Given the description of an element on the screen output the (x, y) to click on. 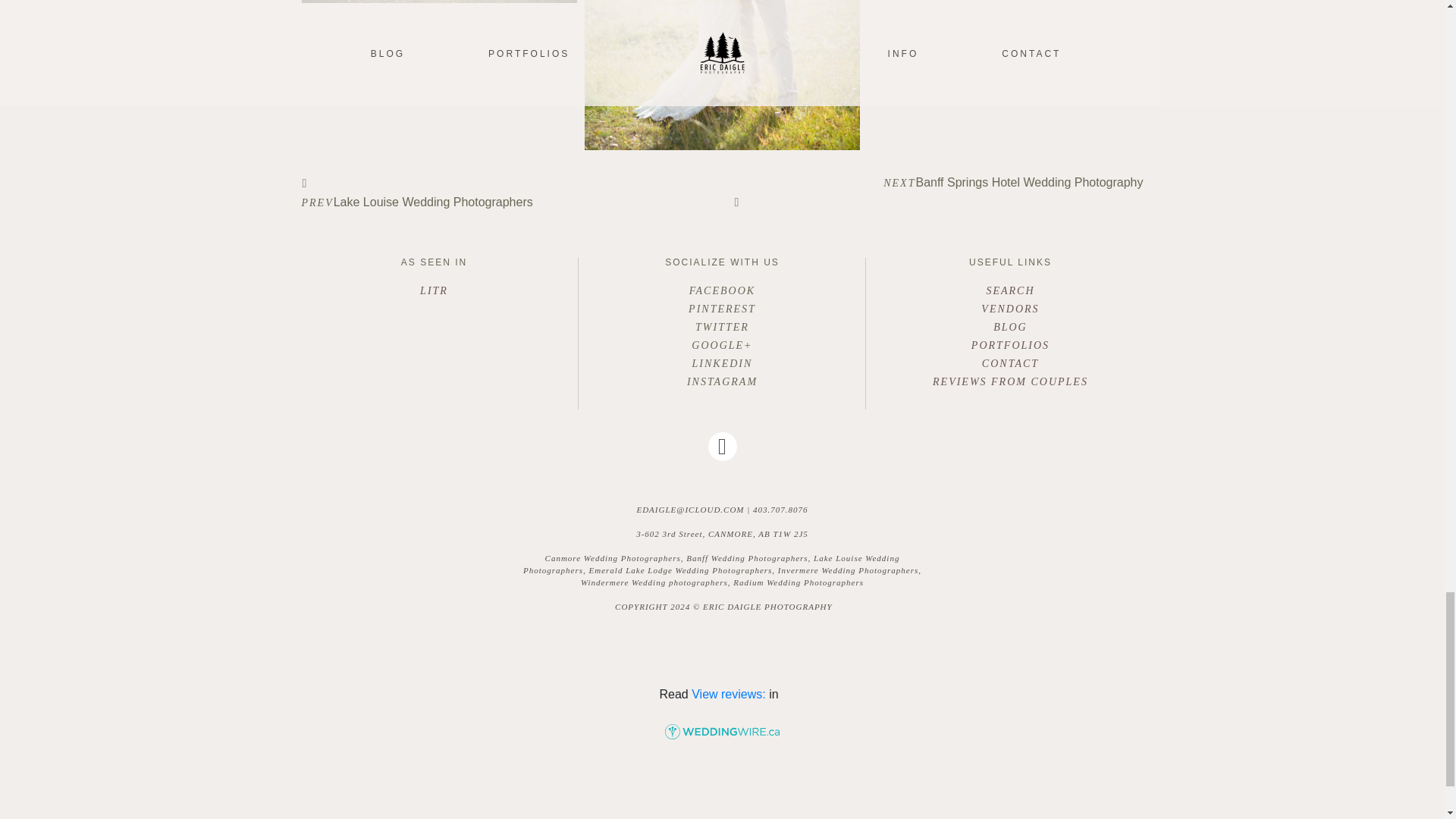
LINKEDIN (722, 363)
NEXTBanff Springs Hotel Wedding Photography (937, 194)
FACEBOOK (722, 290)
PREVLake Louise Wedding Photographers (506, 190)
TWITTER (722, 327)
PINTEREST (722, 309)
LITR (434, 290)
